Given the description of an element on the screen output the (x, y) to click on. 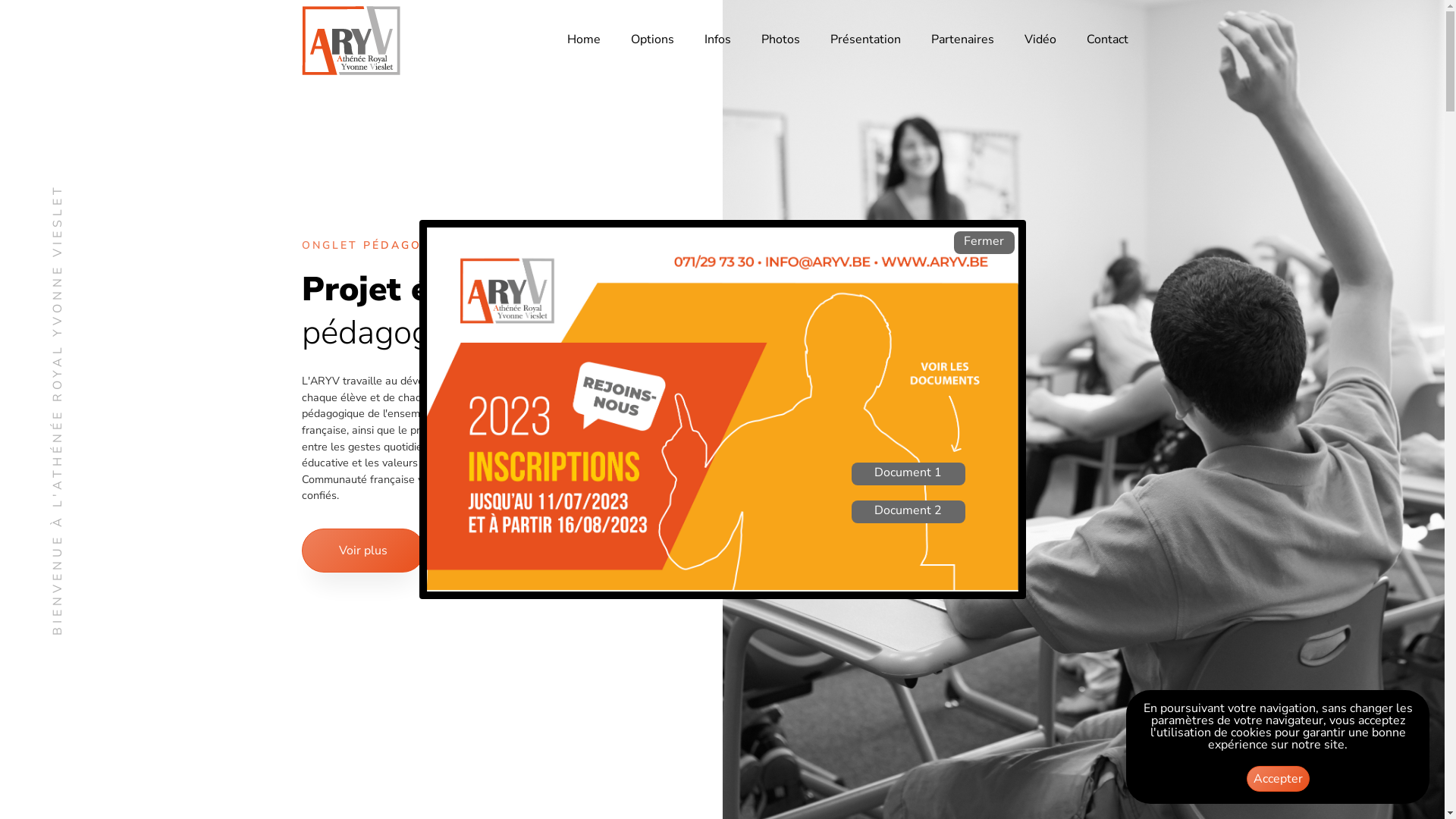
Document 1 Element type: text (907, 473)
Document 2 Element type: text (907, 511)
Partenaires Element type: text (962, 40)
Home Element type: text (583, 40)
Accepter Element type: text (1277, 778)
Photos Element type: text (780, 40)
Fermer Element type: text (983, 242)
Infos Element type: text (716, 40)
Contact Element type: text (1106, 40)
Options Element type: text (652, 40)
